Given the description of an element on the screen output the (x, y) to click on. 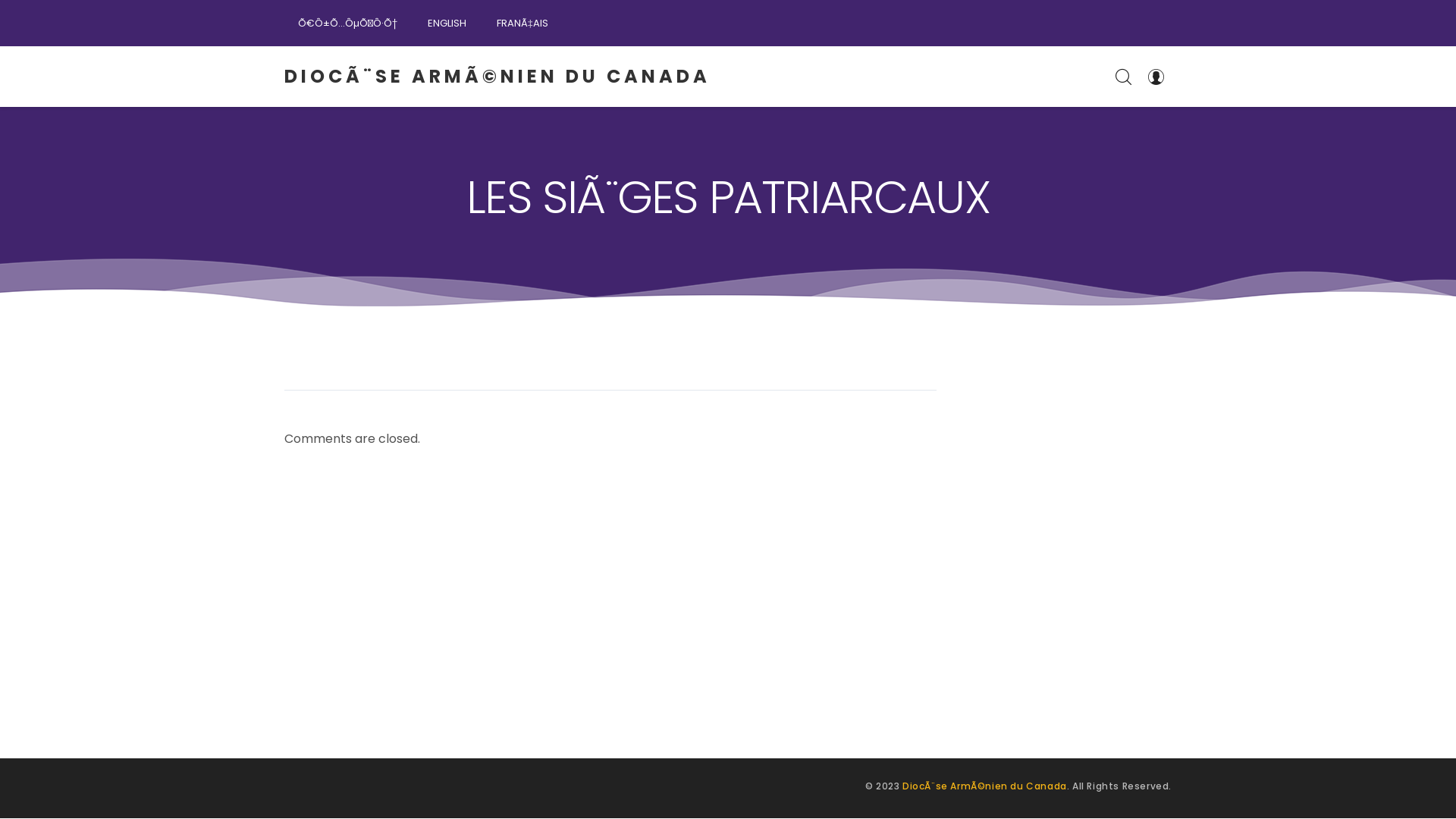
ENGLISH Element type: text (446, 22)
Log In Element type: hover (1155, 76)
